Given the description of an element on the screen output the (x, y) to click on. 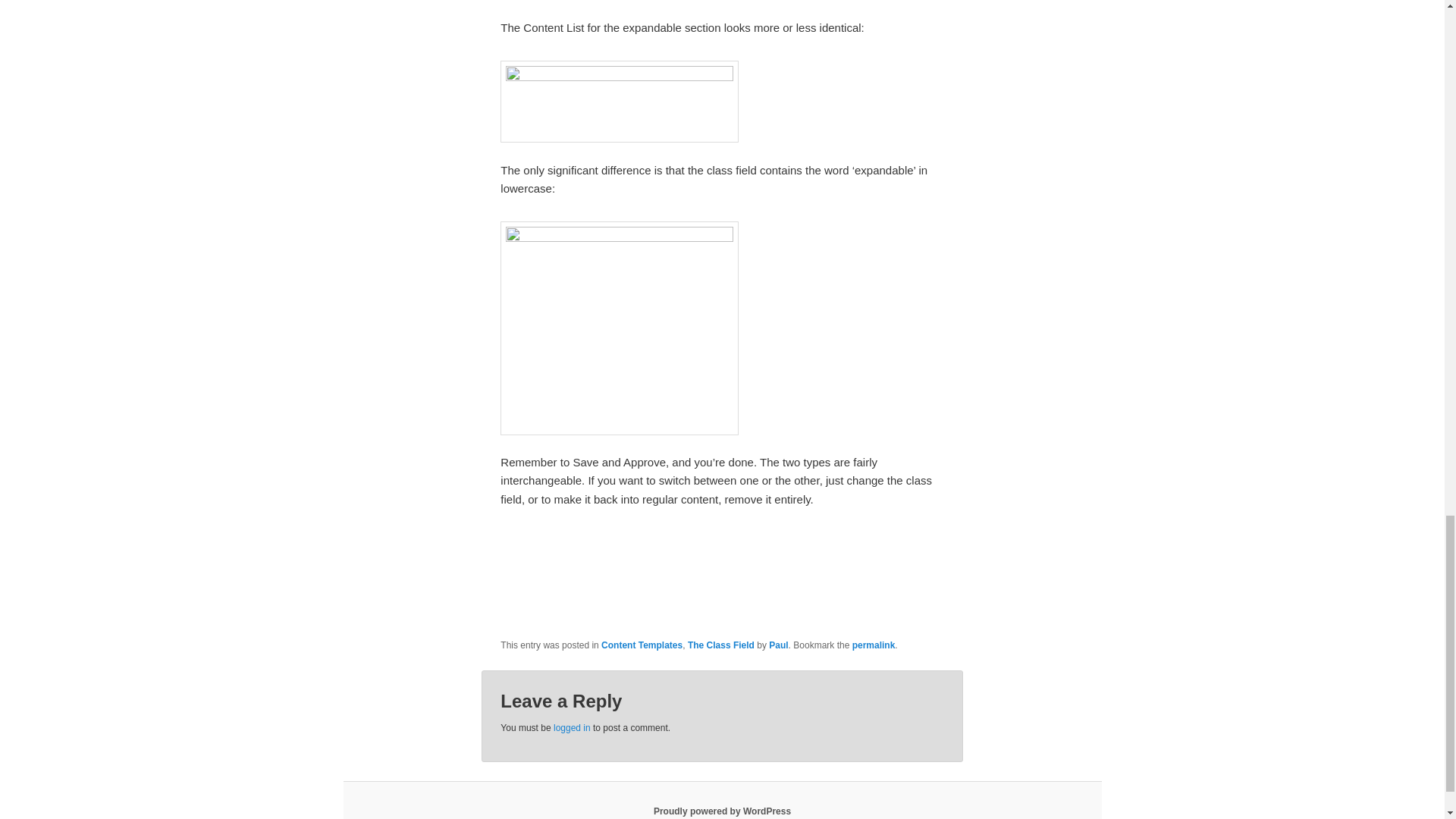
Permalink to Expandable and Tabbed Content (873, 644)
Paul (777, 644)
Content Templates (641, 644)
The Class Field (720, 644)
permalink (873, 644)
Semantic Personal Publishing Platform (721, 810)
Proudly powered by WordPress (721, 810)
logged in (572, 727)
